Given the description of an element on the screen output the (x, y) to click on. 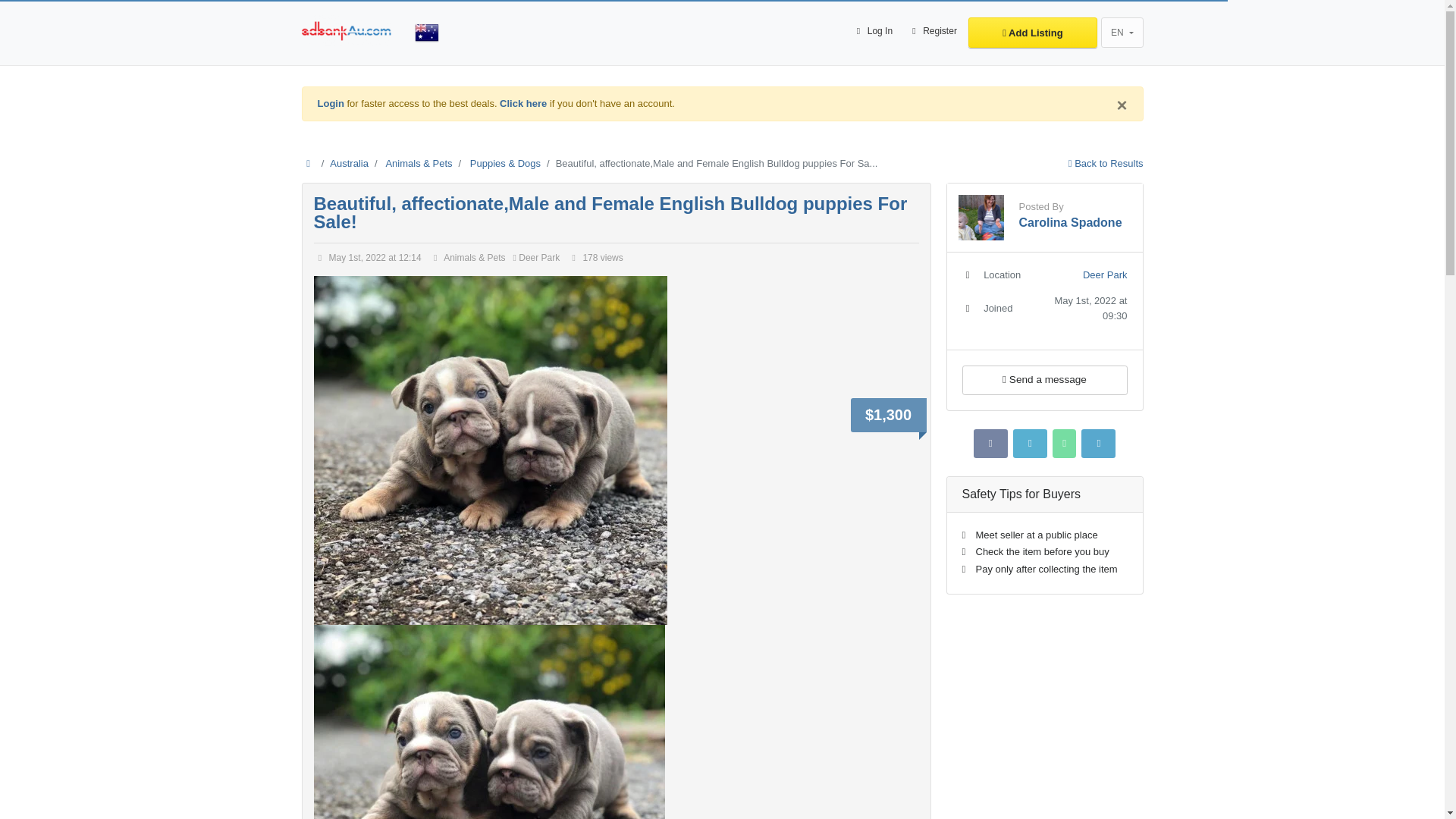
Click here (523, 102)
Log In (871, 32)
Add Listing (1032, 32)
EN (1121, 32)
Login (330, 102)
Carolina Spadone (1070, 222)
Send a message (1043, 379)
Back to Results (1105, 163)
Australia (349, 163)
